Given the description of an element on the screen output the (x, y) to click on. 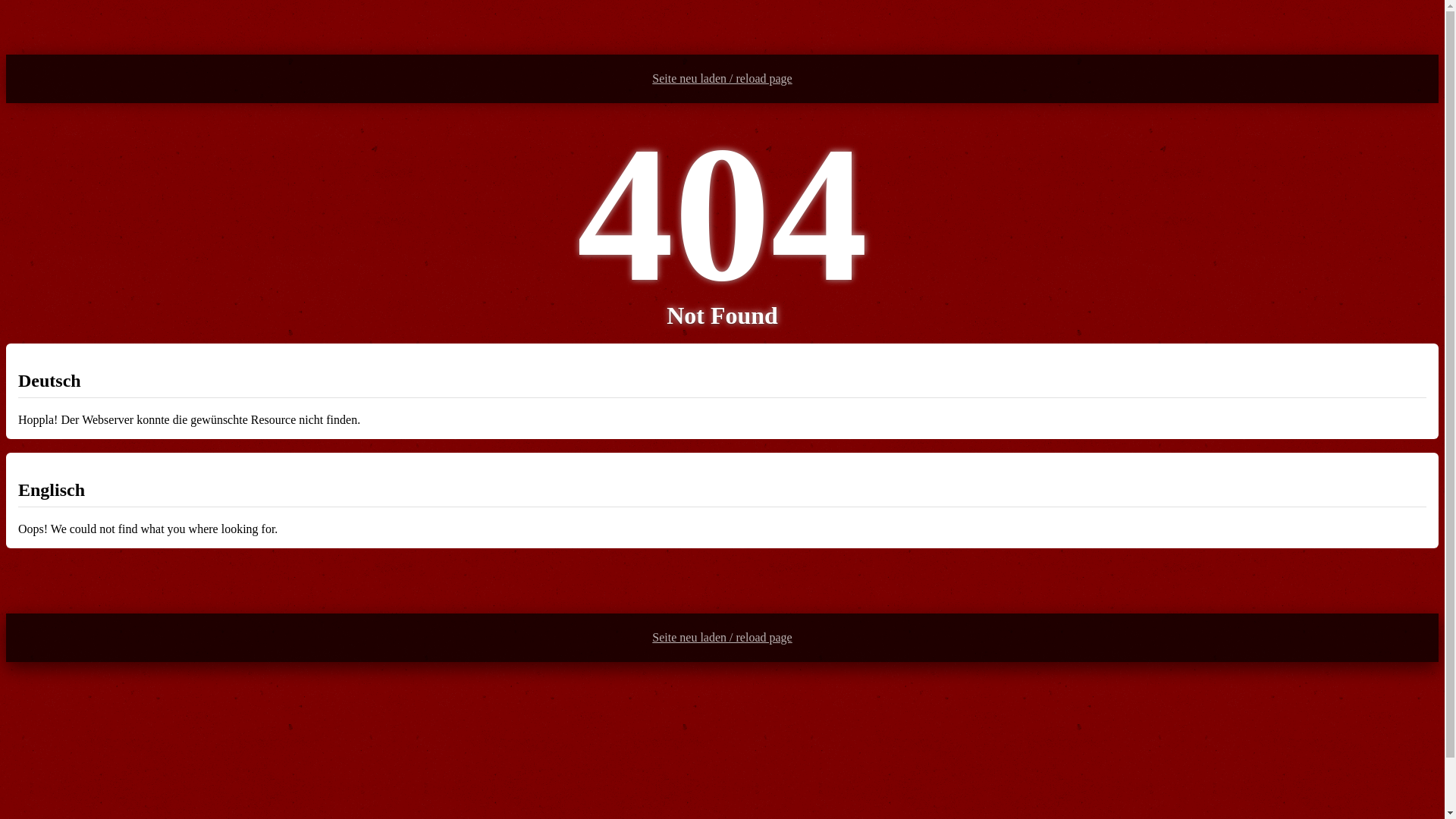
Seite neu laden / reload page Element type: text (721, 78)
Seite neu laden / reload page Element type: text (721, 637)
